Given the description of an element on the screen output the (x, y) to click on. 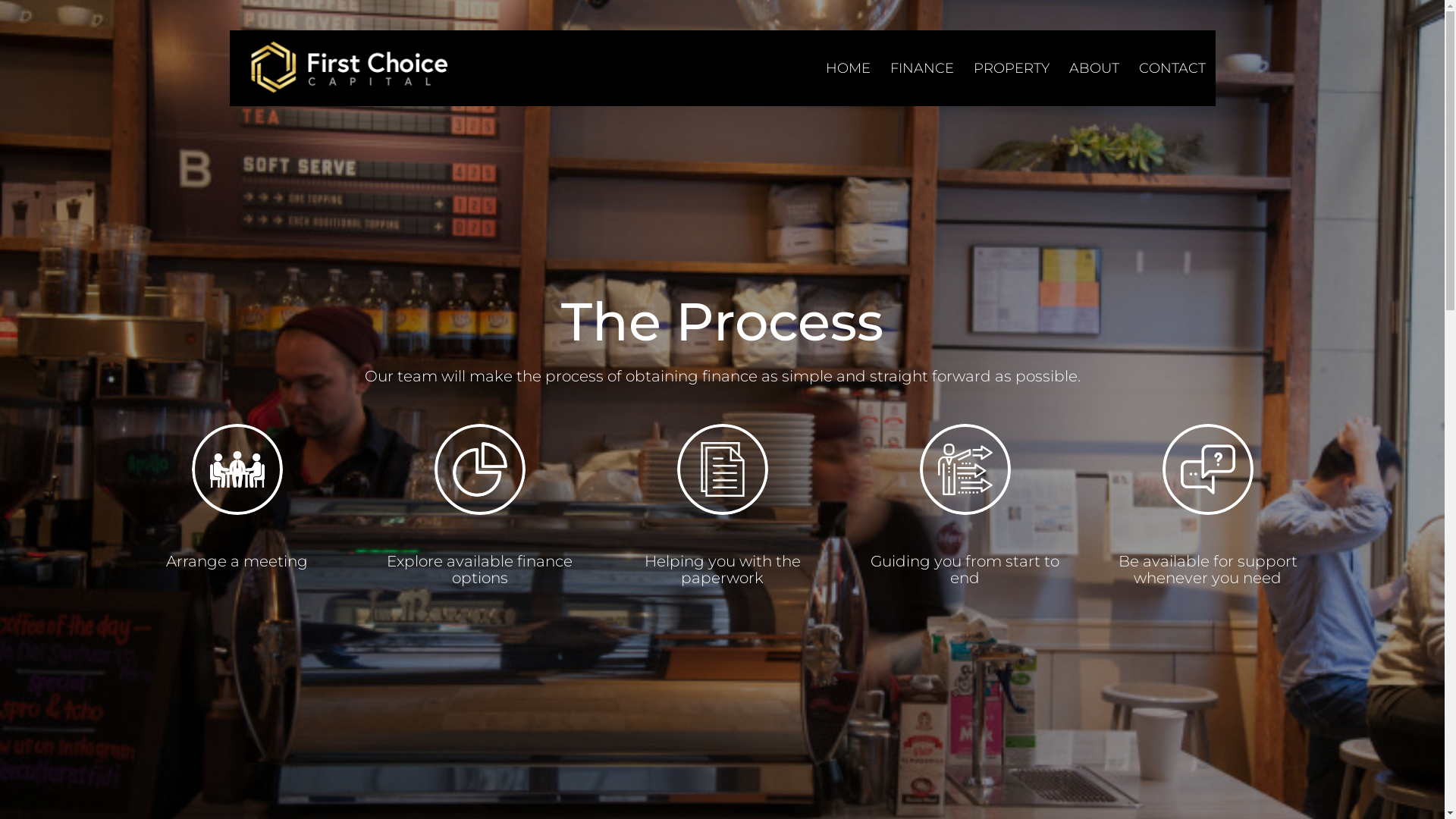
CONTACT Element type: text (1171, 68)
guiding Element type: hover (964, 468)
meeting Element type: hover (236, 468)
ABOUT Element type: text (1093, 68)
explore Element type: hover (478, 468)
paperwork Element type: hover (721, 468)
PROPERTY Element type: text (1010, 68)
FINANCE Element type: text (921, 68)
support Element type: hover (1206, 468)
HOME Element type: text (847, 68)
